Given the description of an element on the screen output the (x, y) to click on. 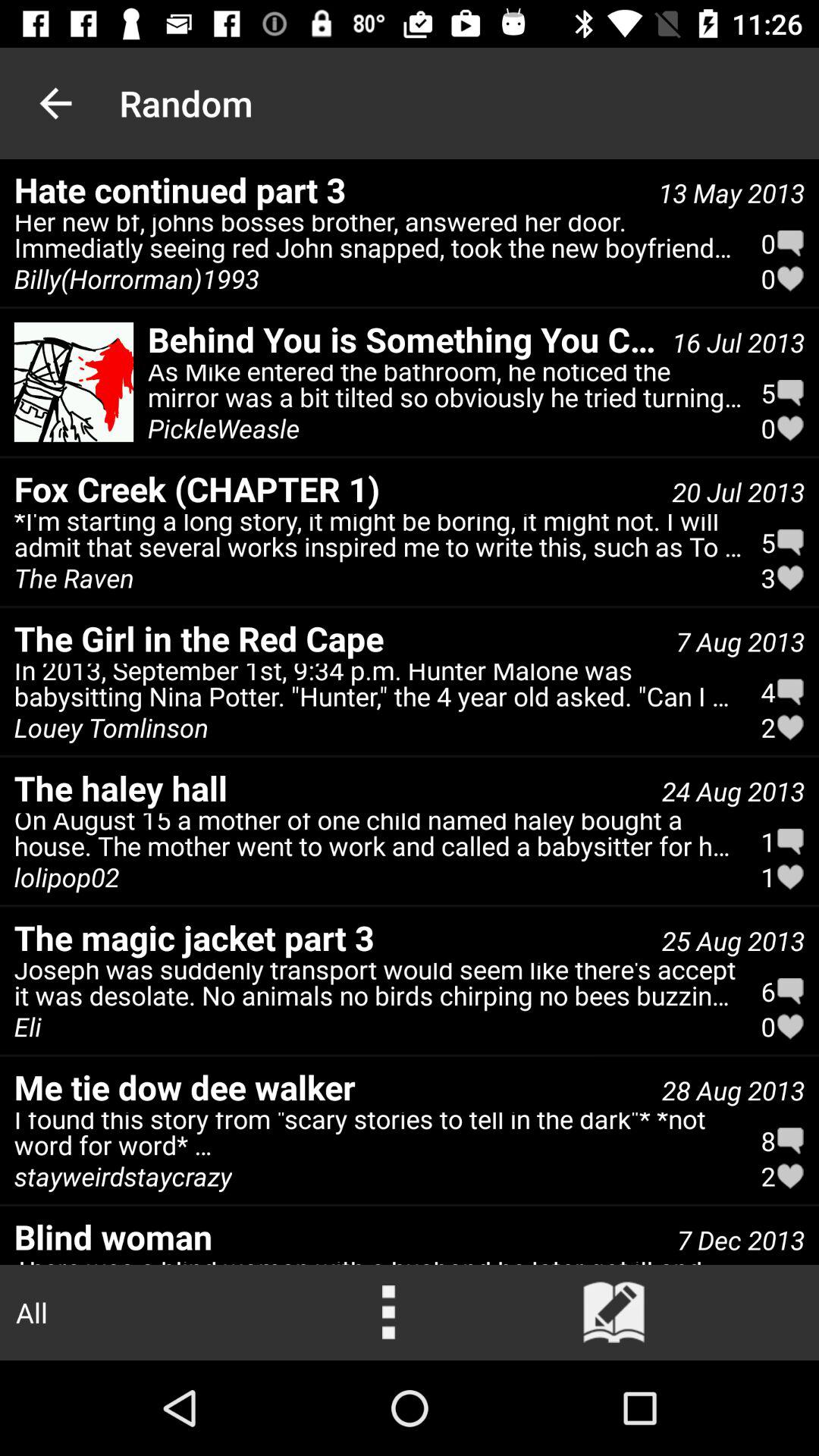
jump until joseph was suddenly icon (378, 988)
